Given the description of an element on the screen output the (x, y) to click on. 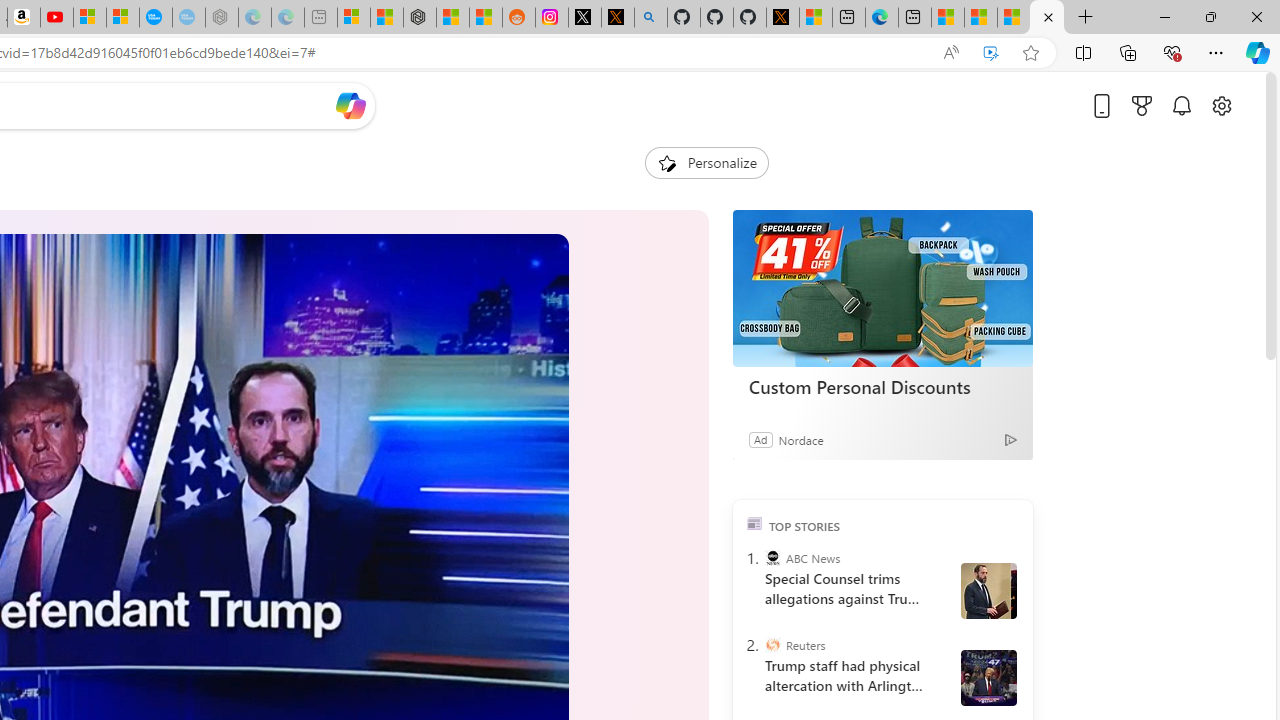
Welcome to Microsoft Edge (882, 17)
